Given the description of an element on the screen output the (x, y) to click on. 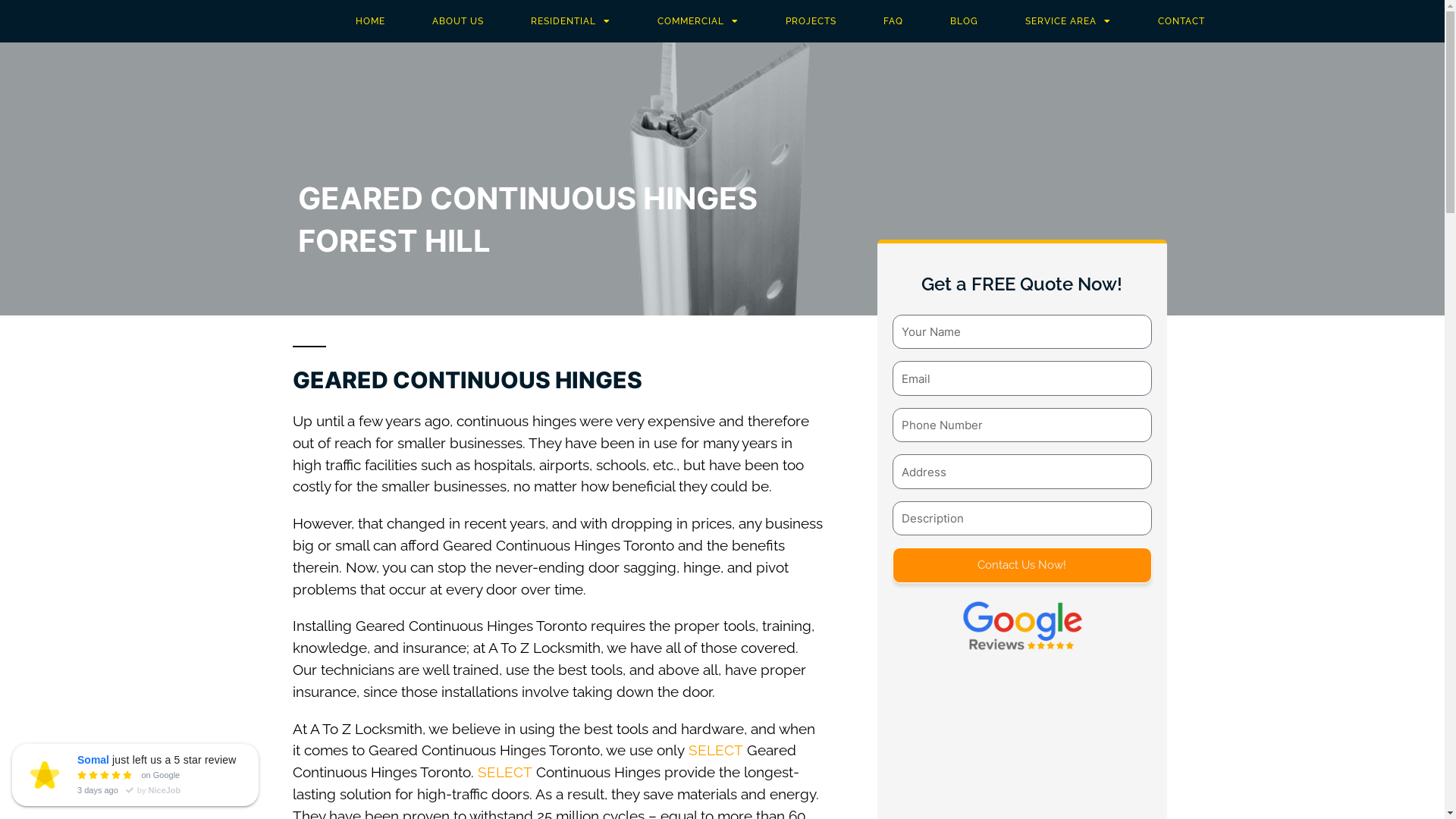
RESIDENTIAL Element type: text (570, 21)
BLOG Element type: text (963, 21)
ABOUT US Element type: text (457, 21)
SELECT Element type: text (715, 749)
Contact Us Now! Element type: text (1021, 565)
SELECT Element type: text (504, 771)
SERVICE AREA Element type: text (1067, 21)
CONTACT Element type: text (1181, 21)
COMMERCIAL Element type: text (697, 21)
HOME Element type: text (370, 21)
PROJECTS Element type: text (810, 21)
FAQ Element type: text (892, 21)
